Given the description of an element on the screen output the (x, y) to click on. 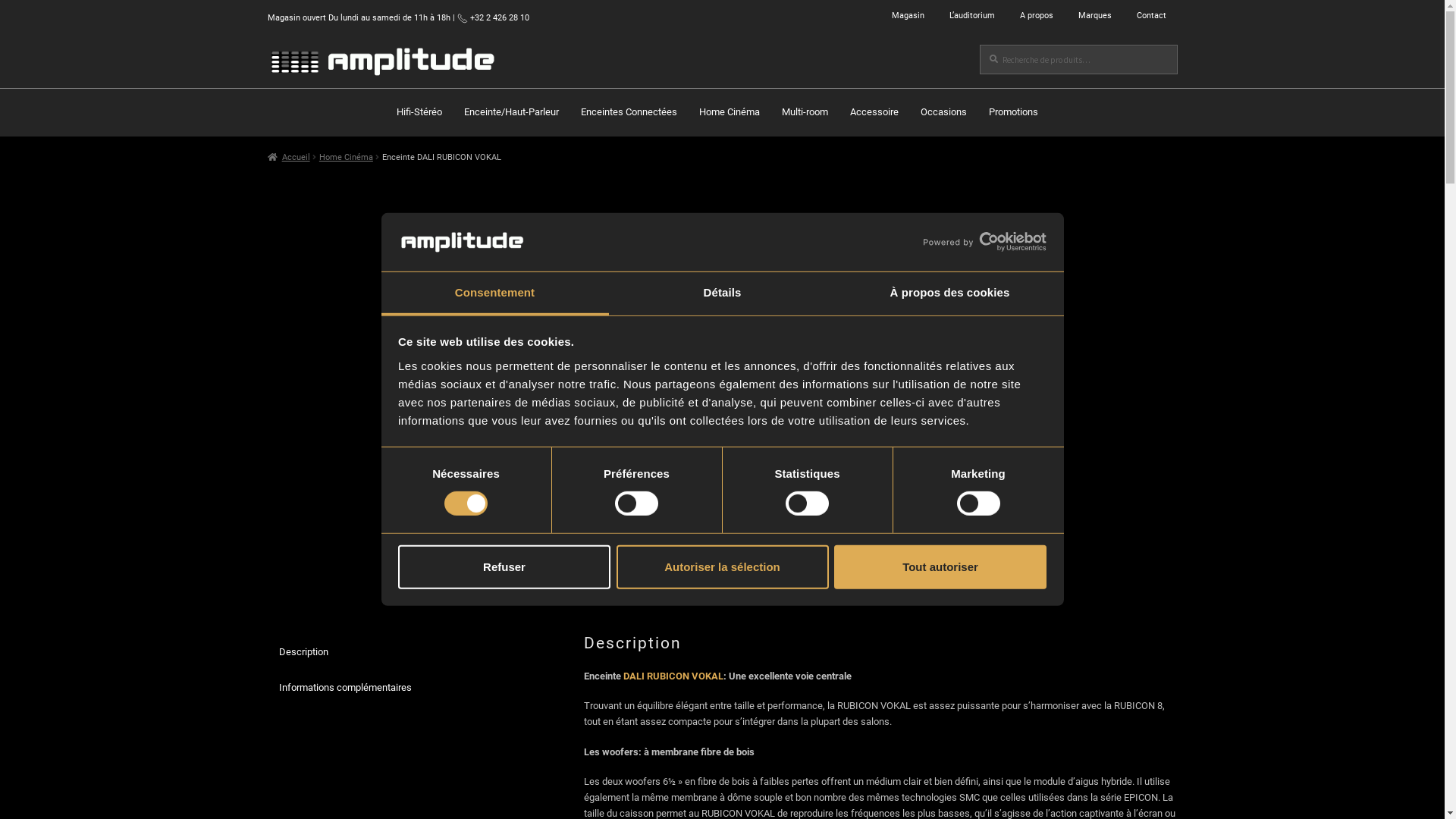
Description Element type: text (404, 652)
Marques Element type: text (1094, 15)
Enceinte Voie Centrale Element type: text (753, 472)
Multi-room Element type: text (804, 112)
Magasin Element type: text (907, 15)
Recherche Element type: text (979, 43)
Tout autoriser Element type: text (940, 566)
A propos Element type: text (1036, 15)
Refuser Element type: text (504, 566)
Promotions Element type: text (1013, 112)
Accueil Element type: text (287, 156)
Contact Element type: text (1151, 15)
Plus d'infos Element type: text (769, 410)
Occasions Element type: text (943, 112)
DALI RUBICON VOKAL Element type: text (673, 675)
Enceinte/Haut-Parleur Element type: text (511, 112)
Consentement Element type: text (494, 293)
Accessoire Element type: text (874, 112)
